Given the description of an element on the screen output the (x, y) to click on. 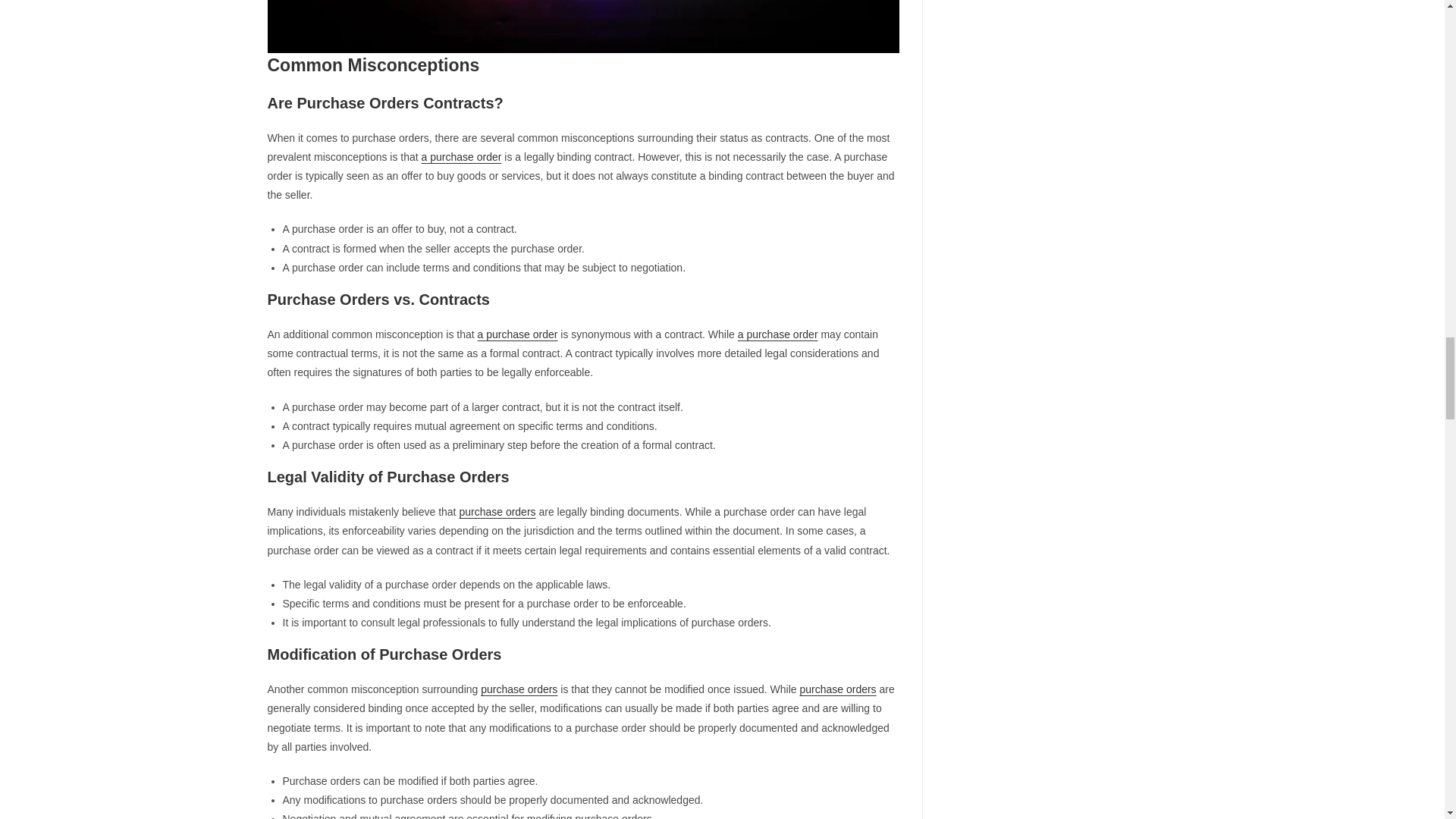
Are Purchase Orders Contracts? (582, 26)
purchase orders (518, 689)
purchase orders (837, 689)
a purchase order (778, 334)
purchase orders (496, 511)
a purchase order (517, 334)
a purchase order (462, 156)
